Given the description of an element on the screen output the (x, y) to click on. 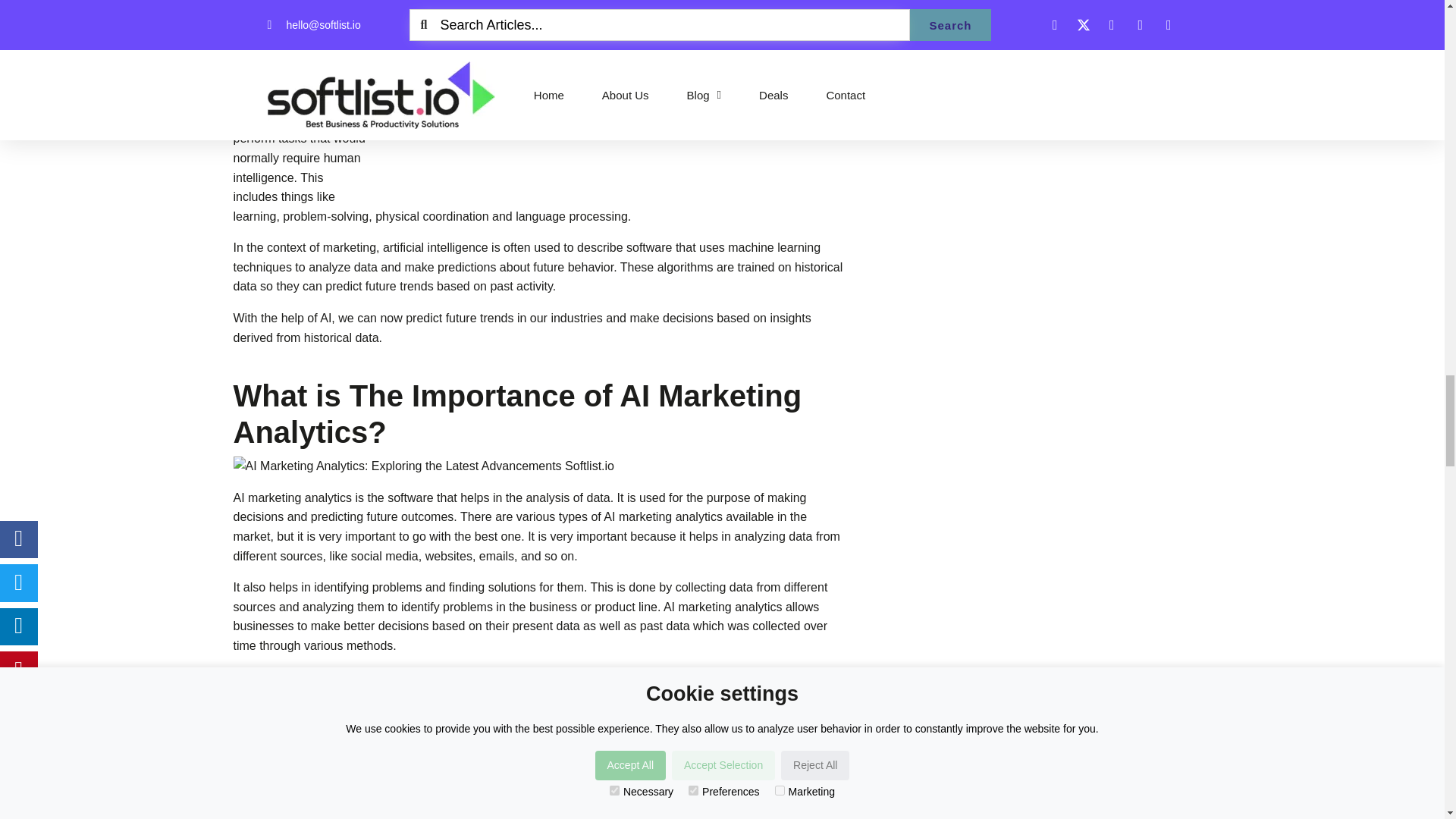
AI Marketing Analytics: Exploring the Latest Advancements 7 (619, 808)
AI Marketing Analytics: Exploring the Latest Advancements 6 (539, 465)
AI Marketing Analytics: Exploring the Latest Advancements 5 (619, 90)
